Given the description of an element on the screen output the (x, y) to click on. 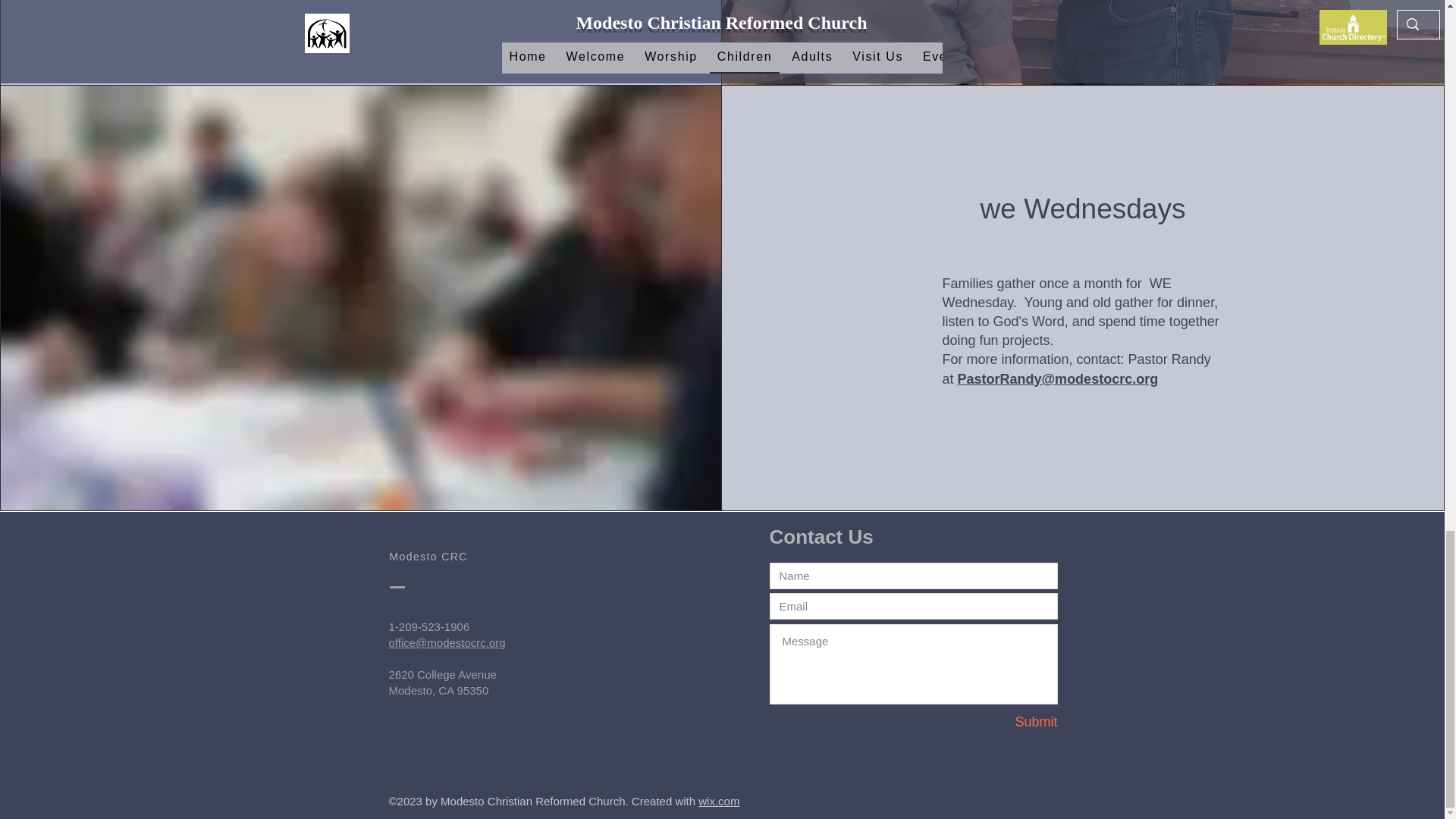
wix.com (718, 800)
Submit (1003, 722)
